Given the description of an element on the screen output the (x, y) to click on. 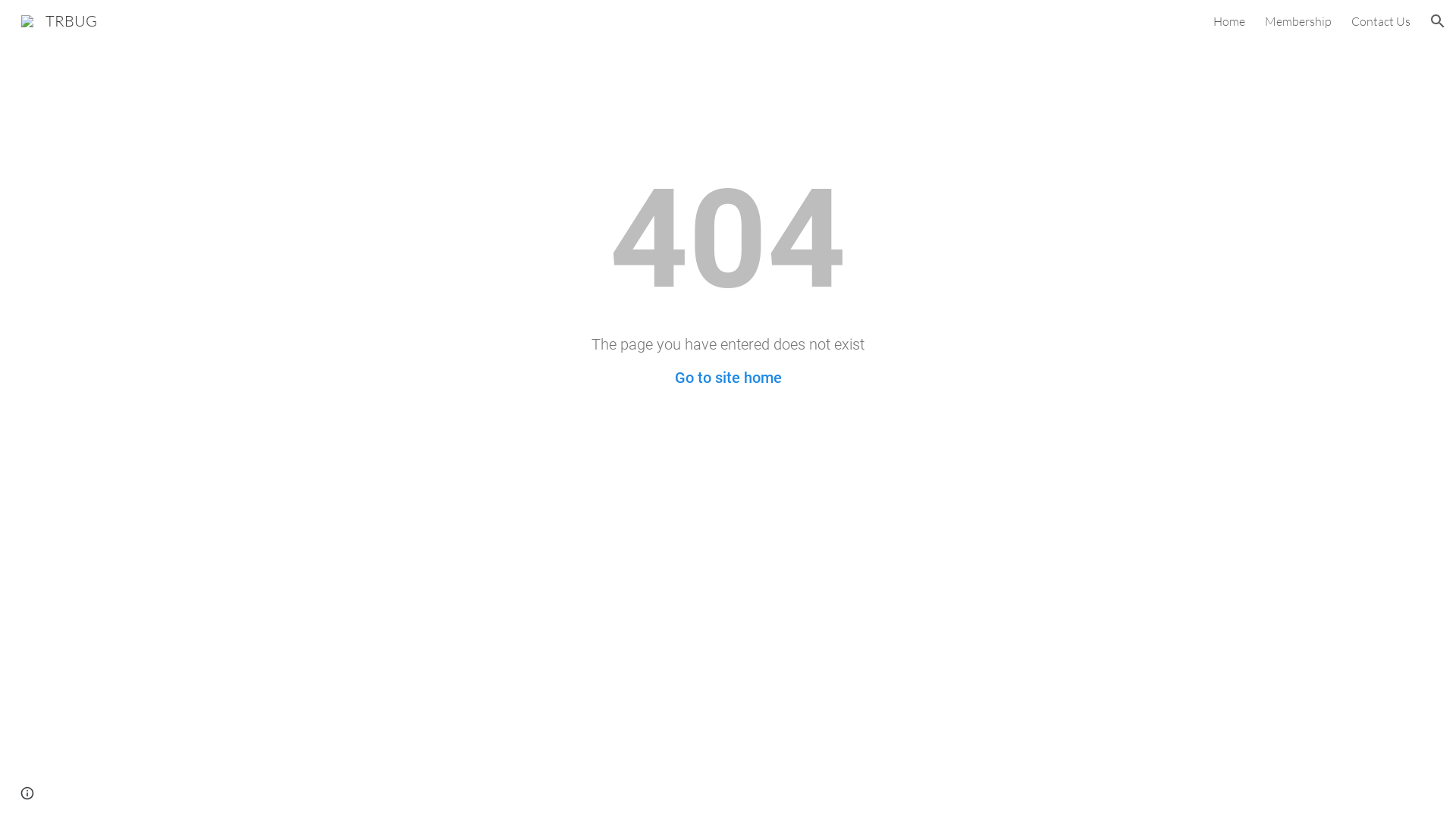
Contact Us Element type: text (1380, 20)
Go to site home Element type: text (727, 377)
TRBUG Element type: text (59, 18)
Home Element type: text (1229, 20)
Membership Element type: text (1297, 20)
